Given the description of an element on the screen output the (x, y) to click on. 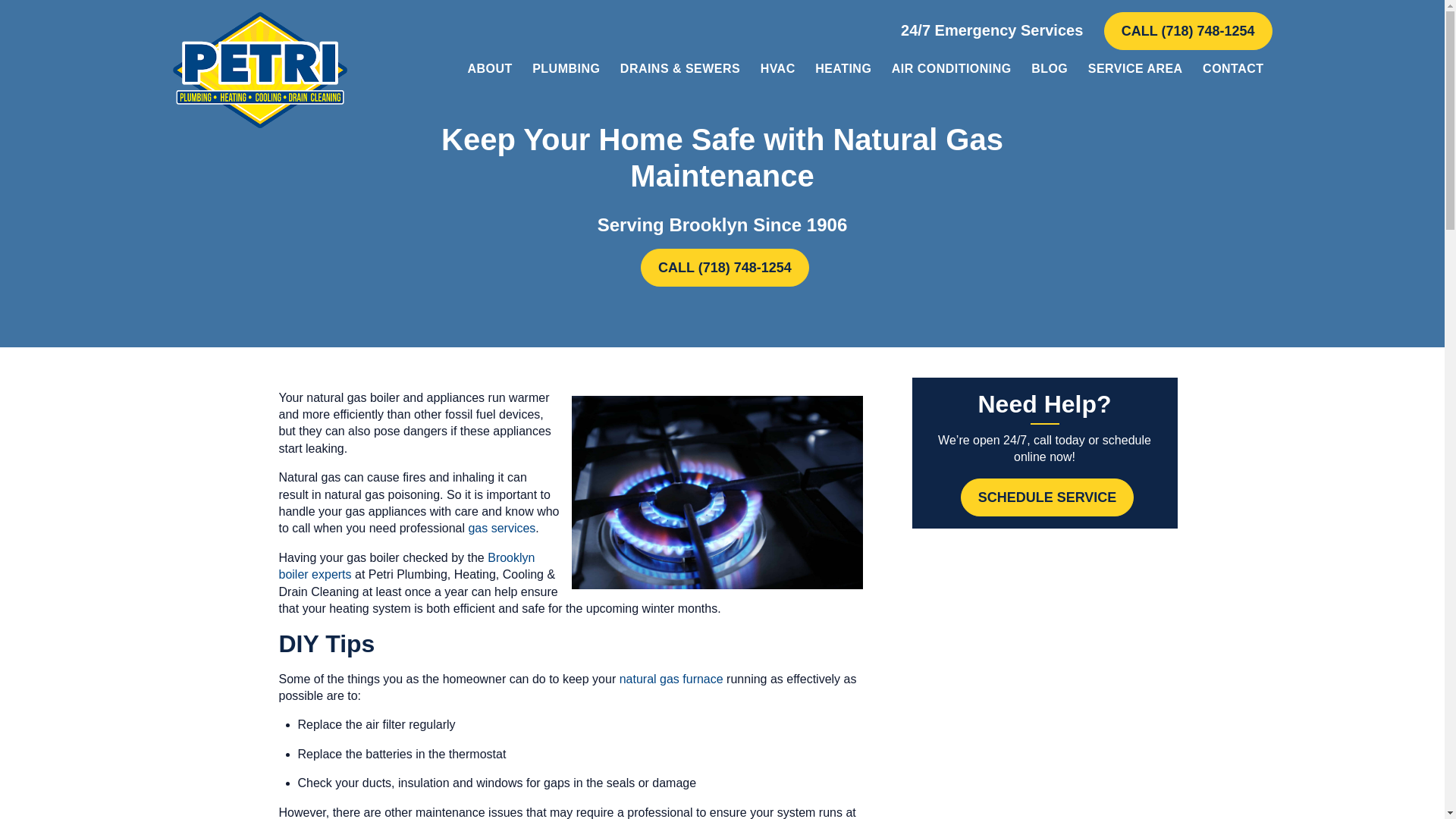
HVAC (778, 68)
HEATING (842, 68)
PLUMBING (565, 68)
ABOUT (488, 68)
